Given the description of an element on the screen output the (x, y) to click on. 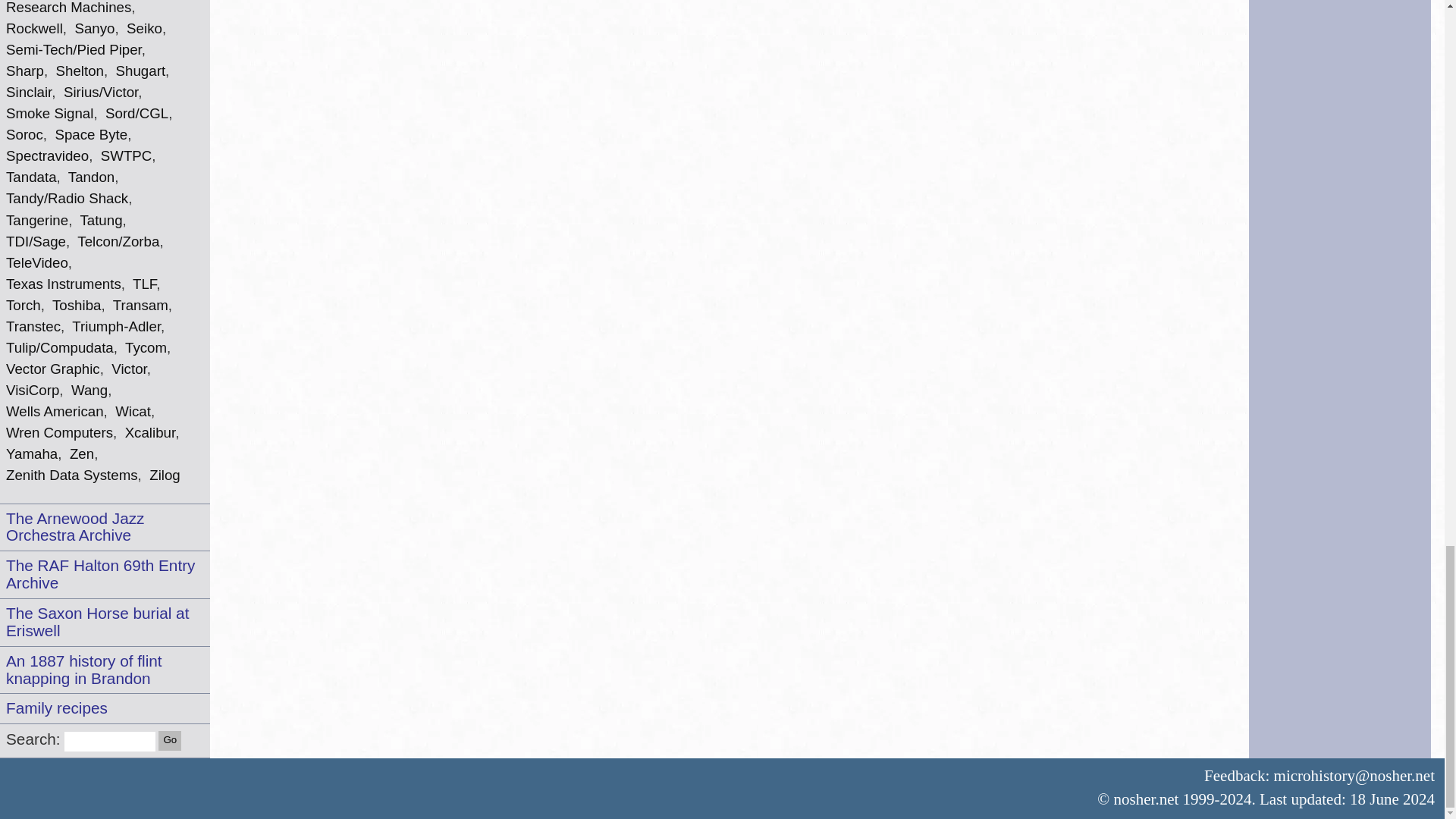
Go (169, 741)
